Given the description of an element on the screen output the (x, y) to click on. 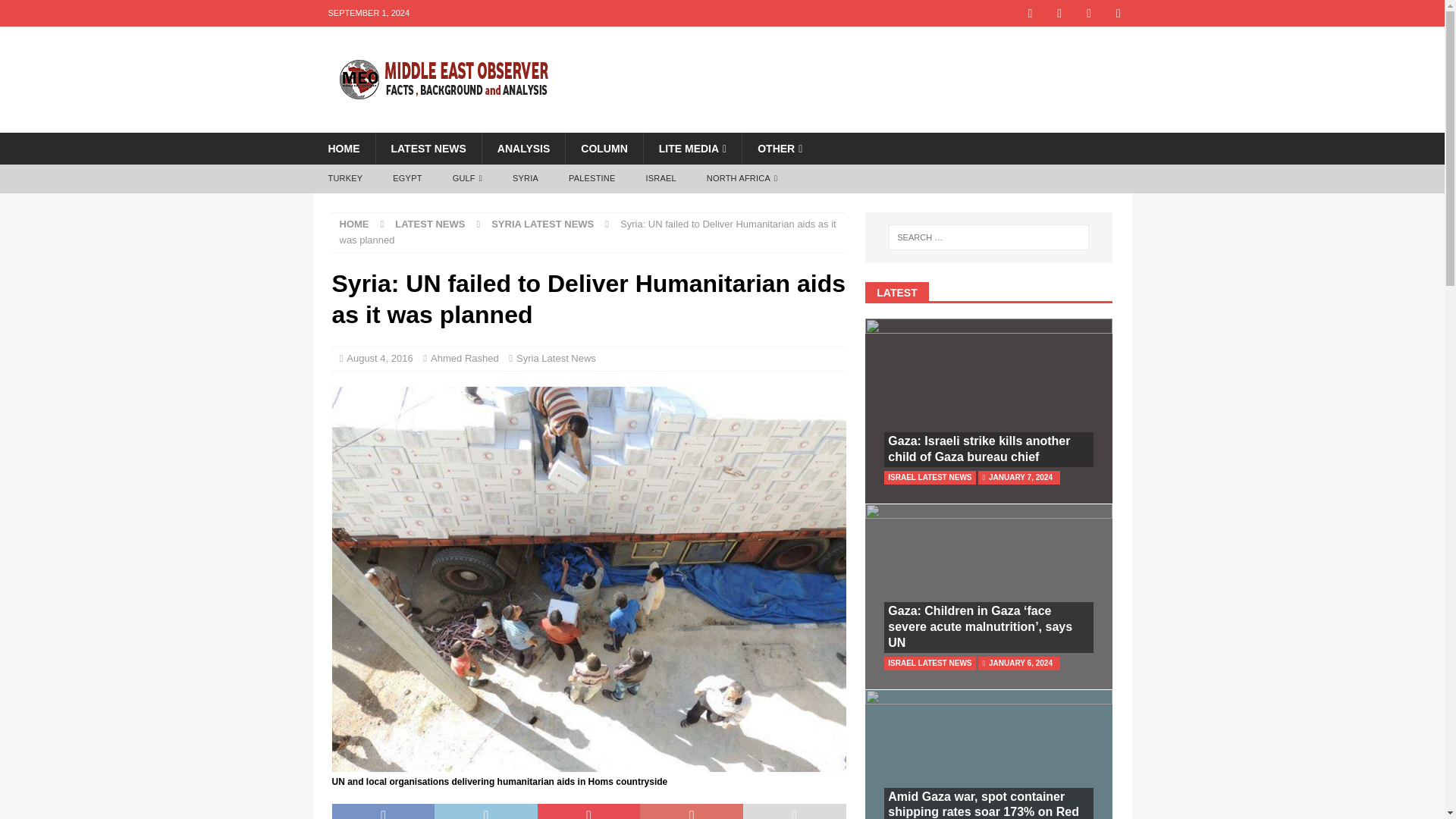
OTHER (778, 148)
SYRIA LATEST NEWS (543, 224)
ISRAEL (660, 178)
GULF (467, 178)
NORTH AFRICA (741, 178)
SYRIA (525, 178)
LATEST NEWS (429, 224)
August 4, 2016 (379, 357)
EGYPT (406, 178)
